Given the description of an element on the screen output the (x, y) to click on. 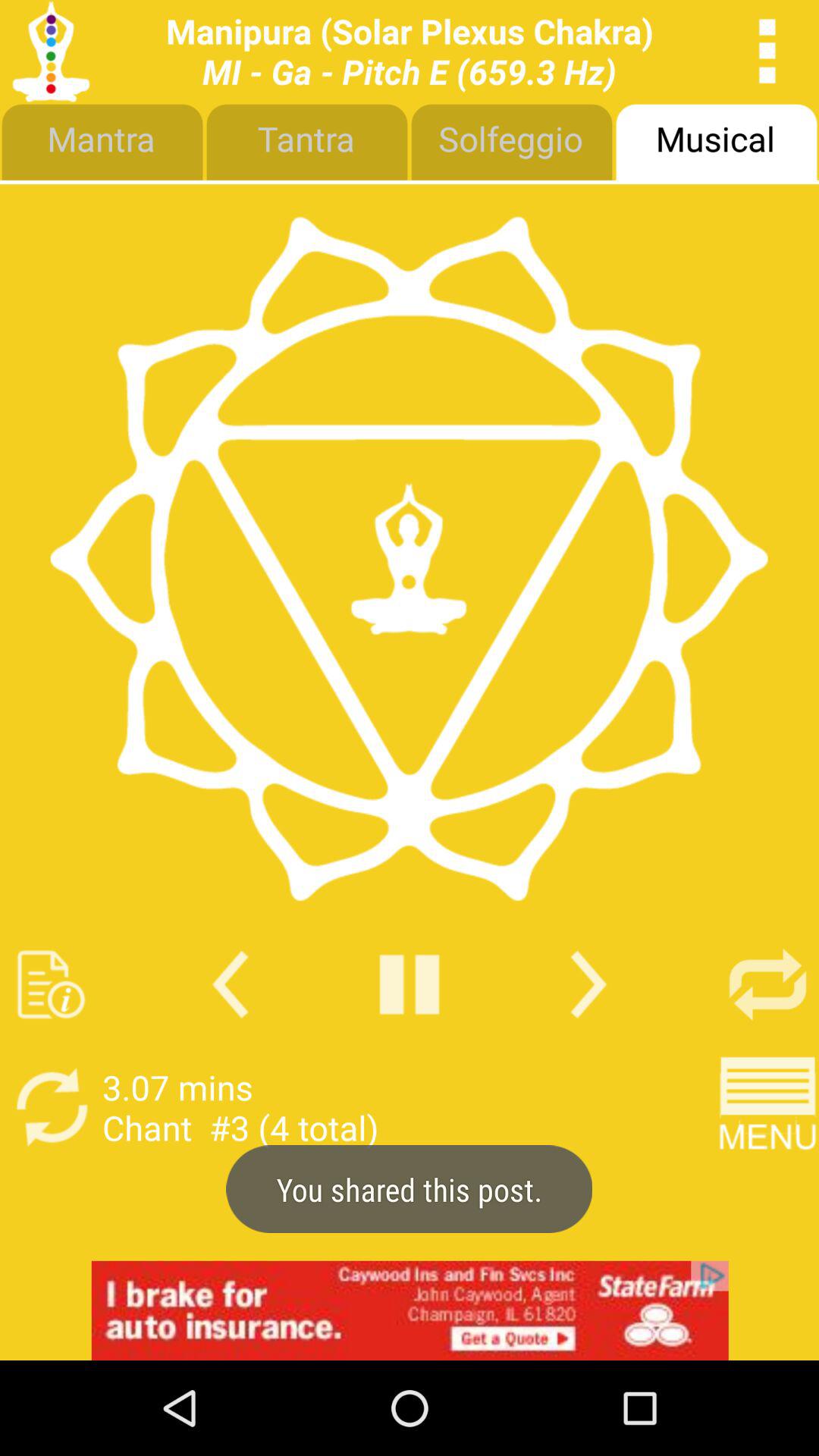
next (588, 984)
